Given the description of an element on the screen output the (x, y) to click on. 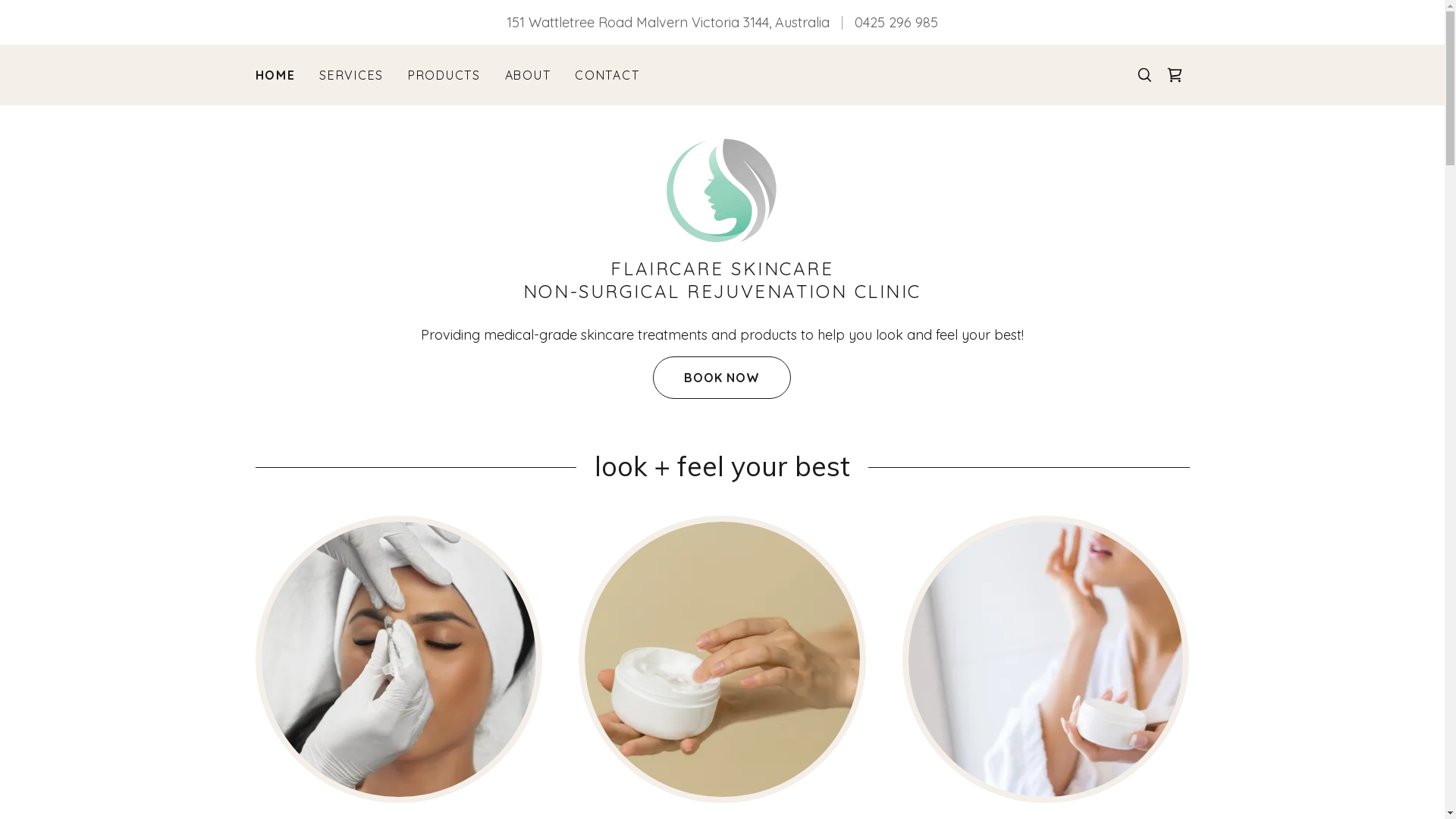
ABOUT Element type: text (527, 74)
PRODUCTS Element type: text (444, 74)
0425 296 985 Element type: text (896, 22)
Flaircare Skincare Nonsurgical Rejuvenation Clinic Element type: hover (721, 188)
BOOK NOW Element type: text (721, 377)
CONTACT Element type: text (606, 74)
SERVICES Element type: text (351, 74)
HOME Element type: text (274, 74)
